Given the description of an element on the screen output the (x, y) to click on. 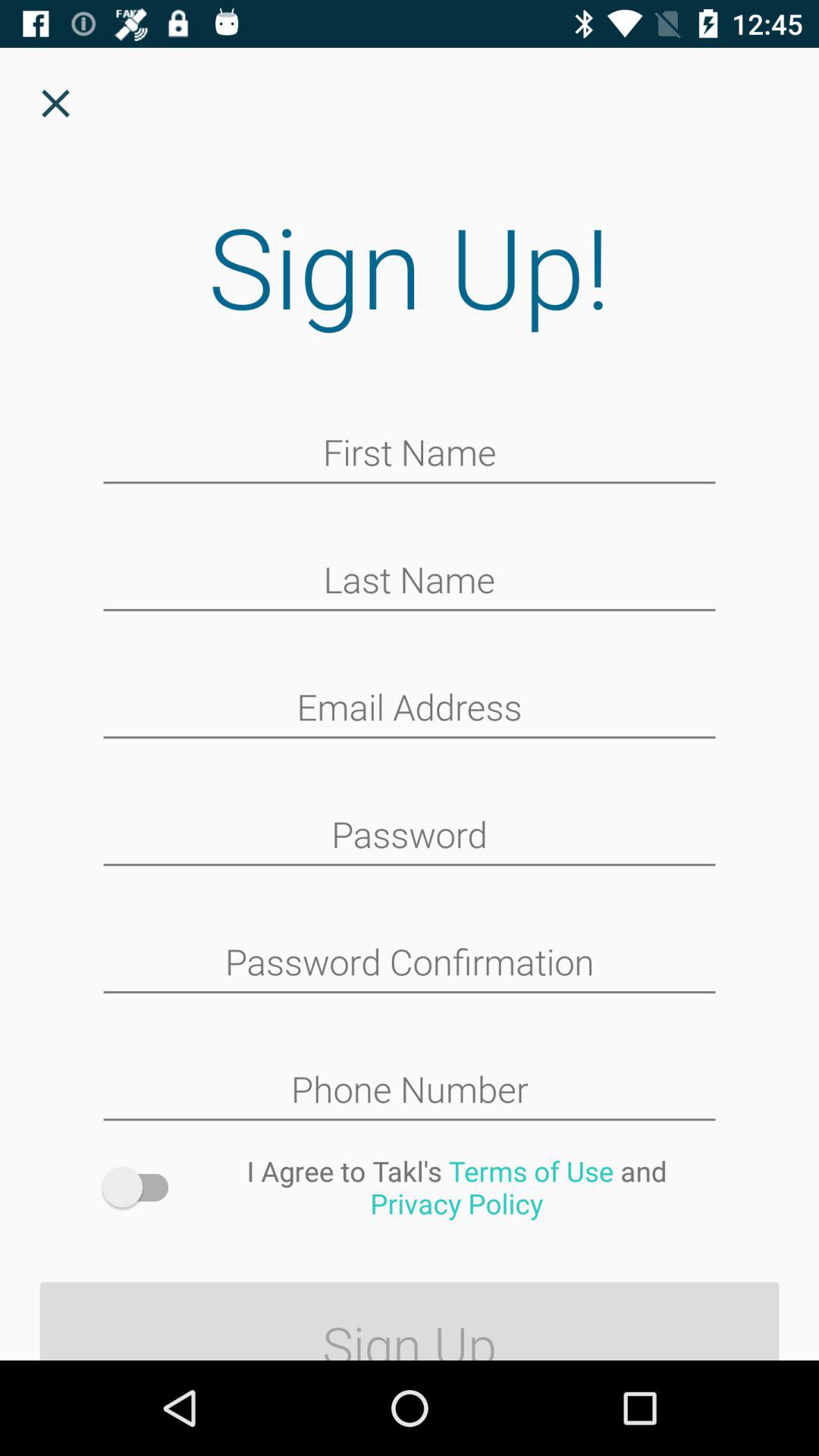
first name (409, 454)
